Given the description of an element on the screen output the (x, y) to click on. 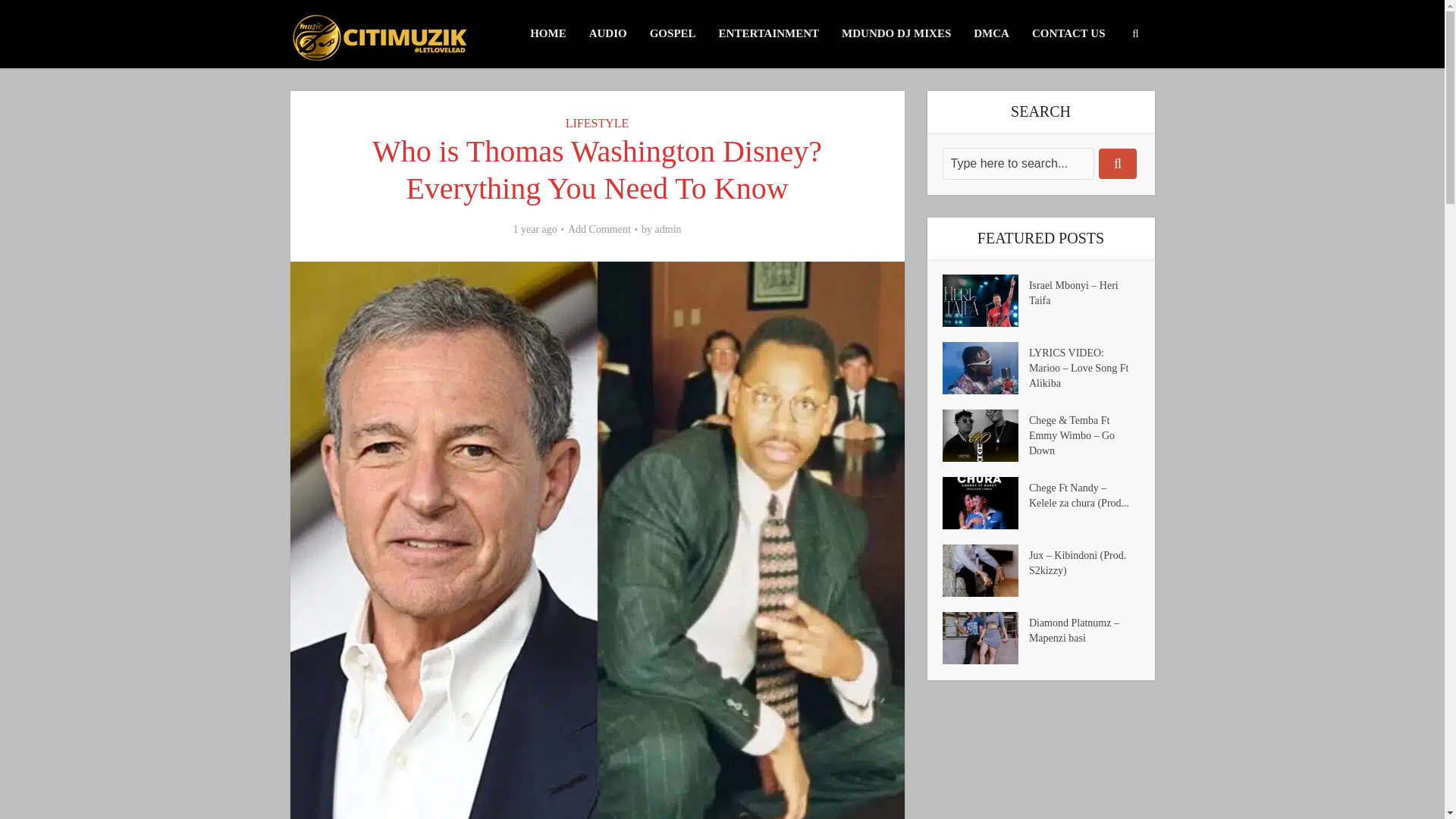
Type here to search... (1017, 163)
Type here to search... (1017, 163)
ENTERTAINMENT (769, 33)
admin (668, 229)
LIFESTYLE (597, 123)
Add Comment (598, 229)
AUDIO (608, 33)
CONTACT US (1068, 33)
GOSPEL (673, 33)
MDUNDO DJ MIXES (895, 33)
